Given the description of an element on the screen output the (x, y) to click on. 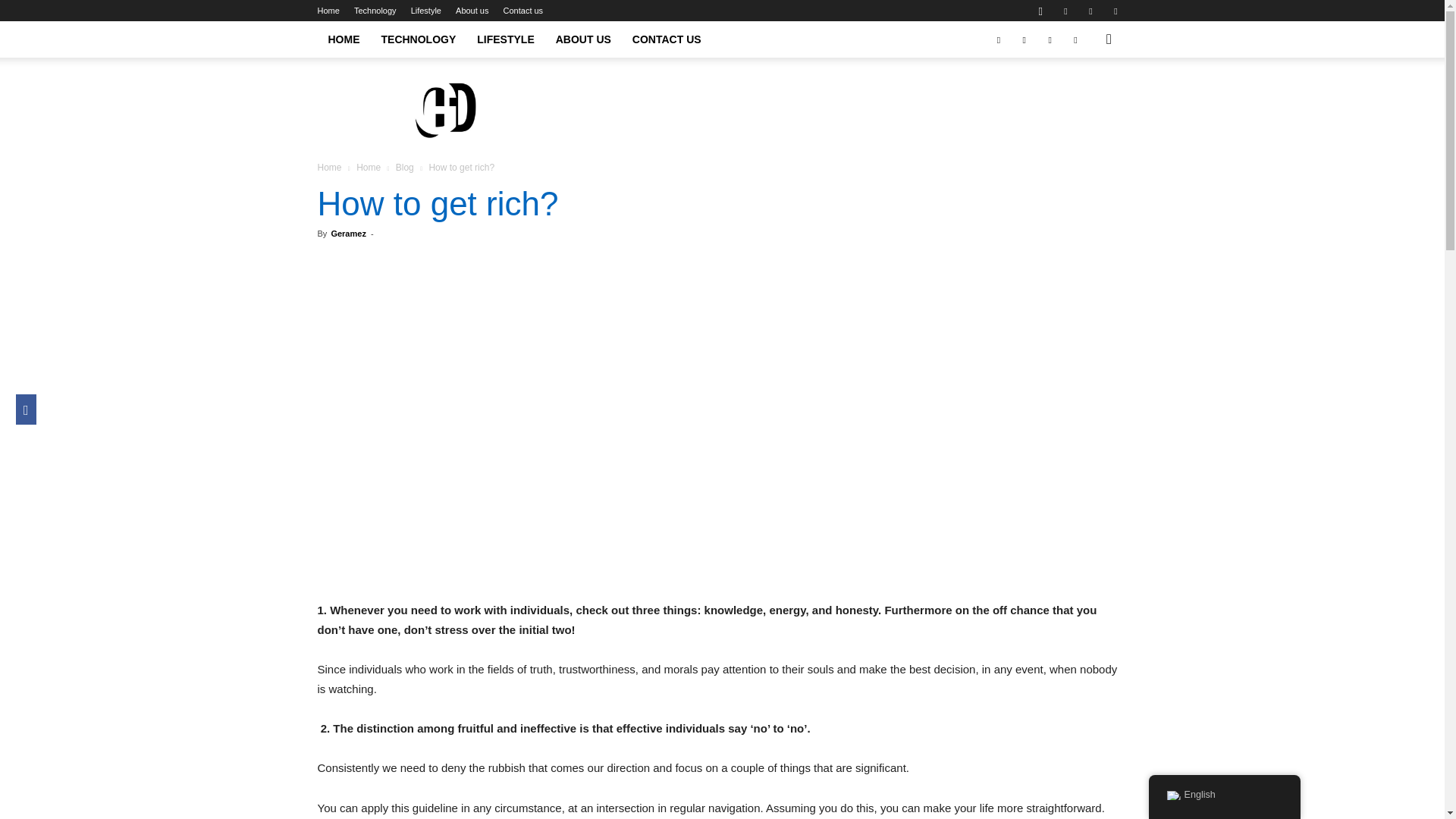
About us (471, 10)
Youtube (1114, 10)
Pinterest (1090, 10)
Contact us (523, 10)
Technology (374, 10)
Home (328, 10)
Instagram (1040, 10)
Mail (1065, 10)
Lifestyle (425, 10)
